Given the description of an element on the screen output the (x, y) to click on. 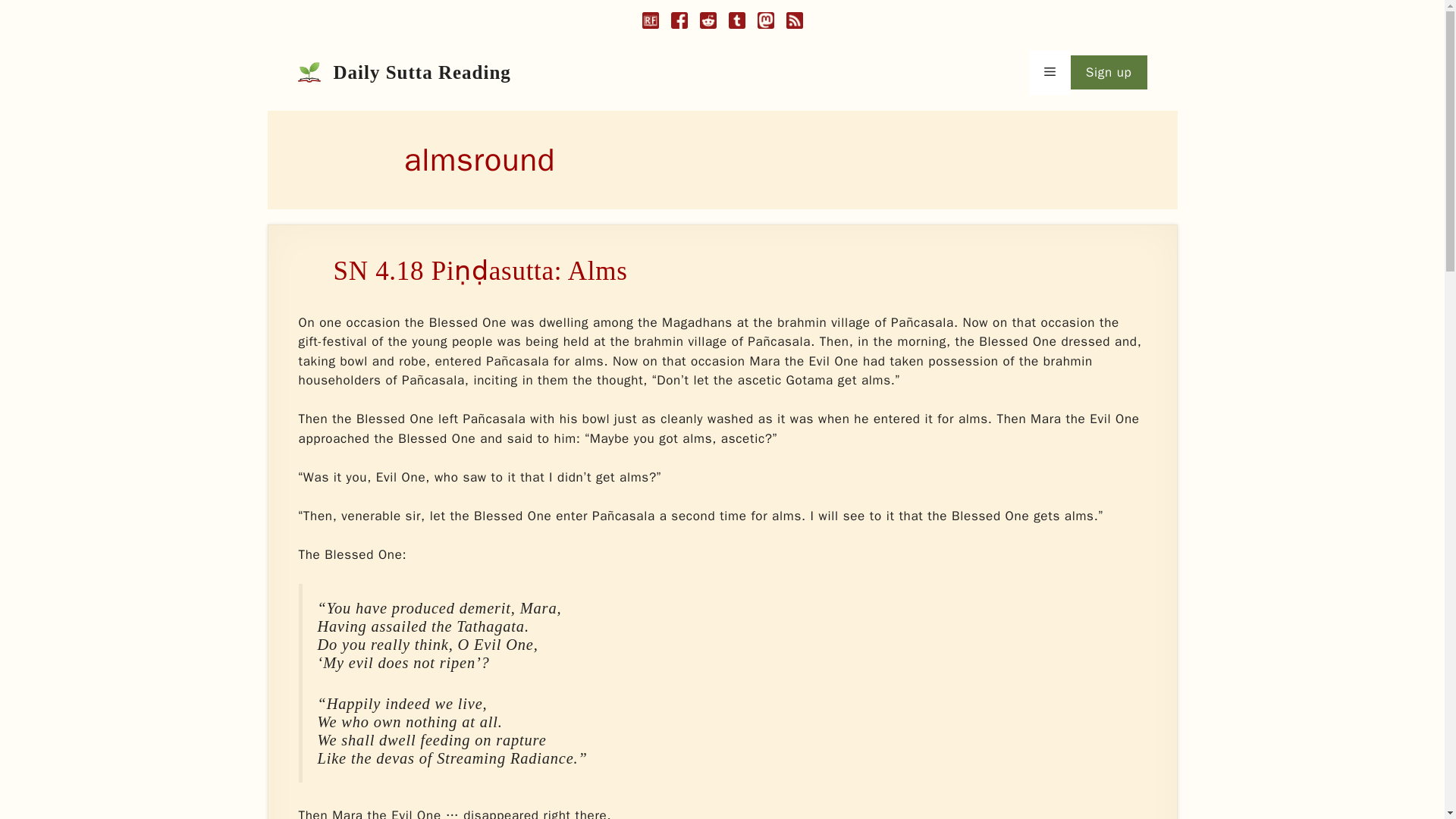
Sign up (1108, 72)
Daily Sutta Reading (422, 72)
Sign up (1108, 72)
Menu (1049, 72)
Sign up (1108, 72)
